Given the description of an element on the screen output the (x, y) to click on. 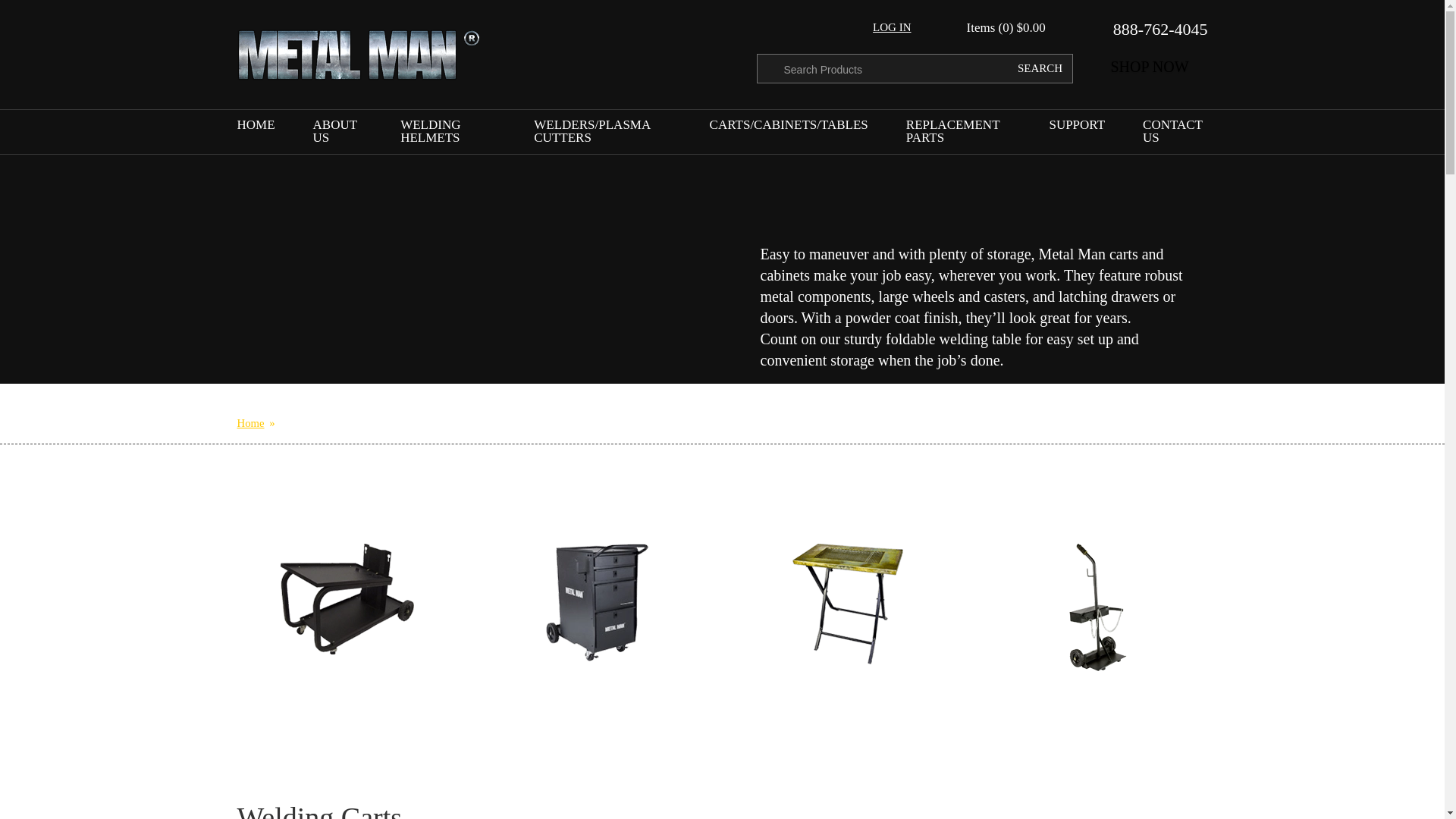
SEARCH (1035, 68)
SUPPORT (1076, 126)
REPLACEMENT PARTS (958, 133)
WELDING CARTS (346, 600)
HOME (255, 126)
WELDING TABLES (846, 605)
CONTACT US (1173, 133)
WELDING HELMETS (448, 133)
888-762-4045 (1150, 29)
ABOUT US (337, 133)
